Given the description of an element on the screen output the (x, y) to click on. 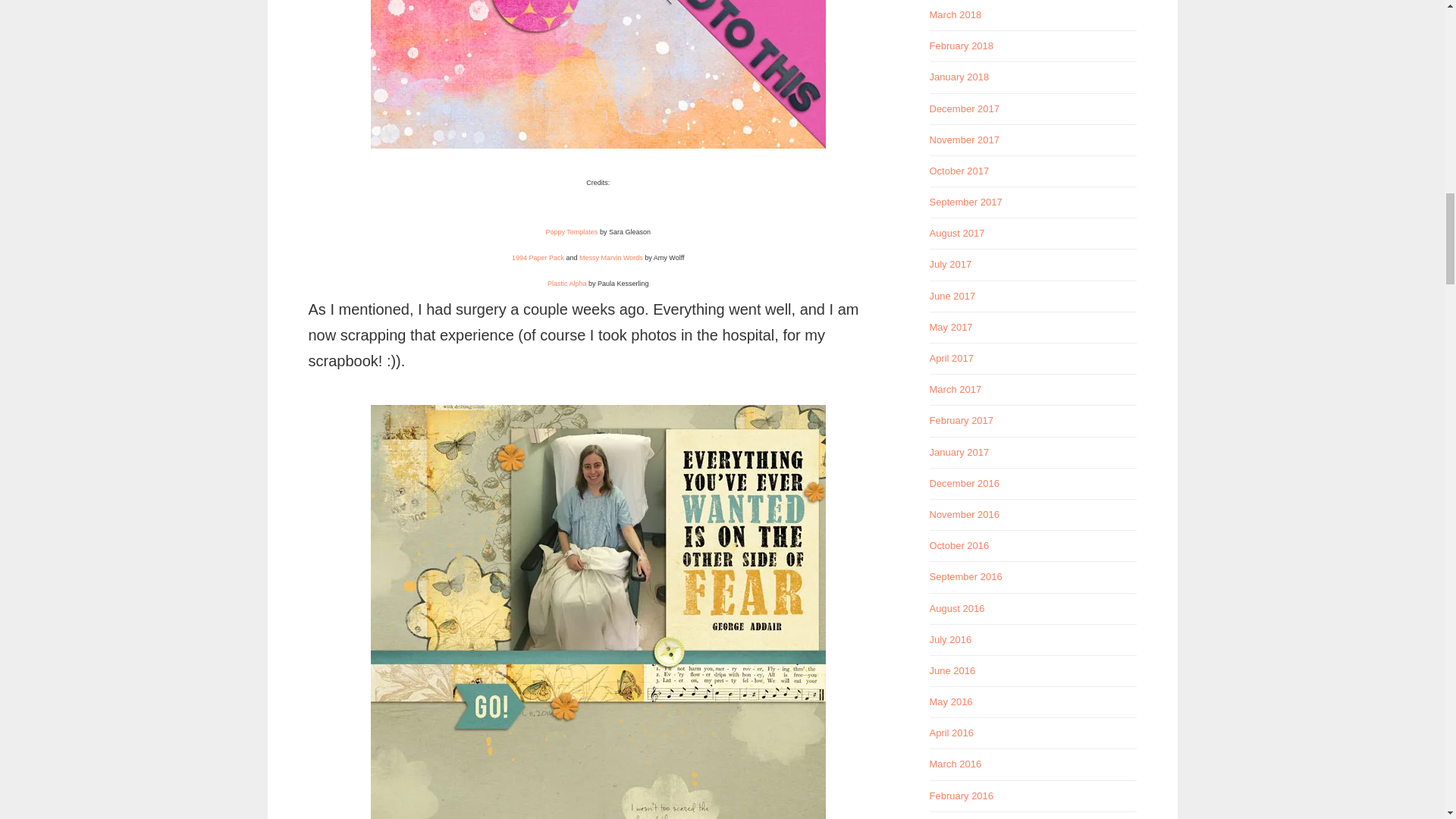
Plastic Alpha (566, 283)
Messy Marvin Words (611, 257)
1994 Paper Pack (538, 257)
Poppy Templates (570, 231)
